Given the description of an element on the screen output the (x, y) to click on. 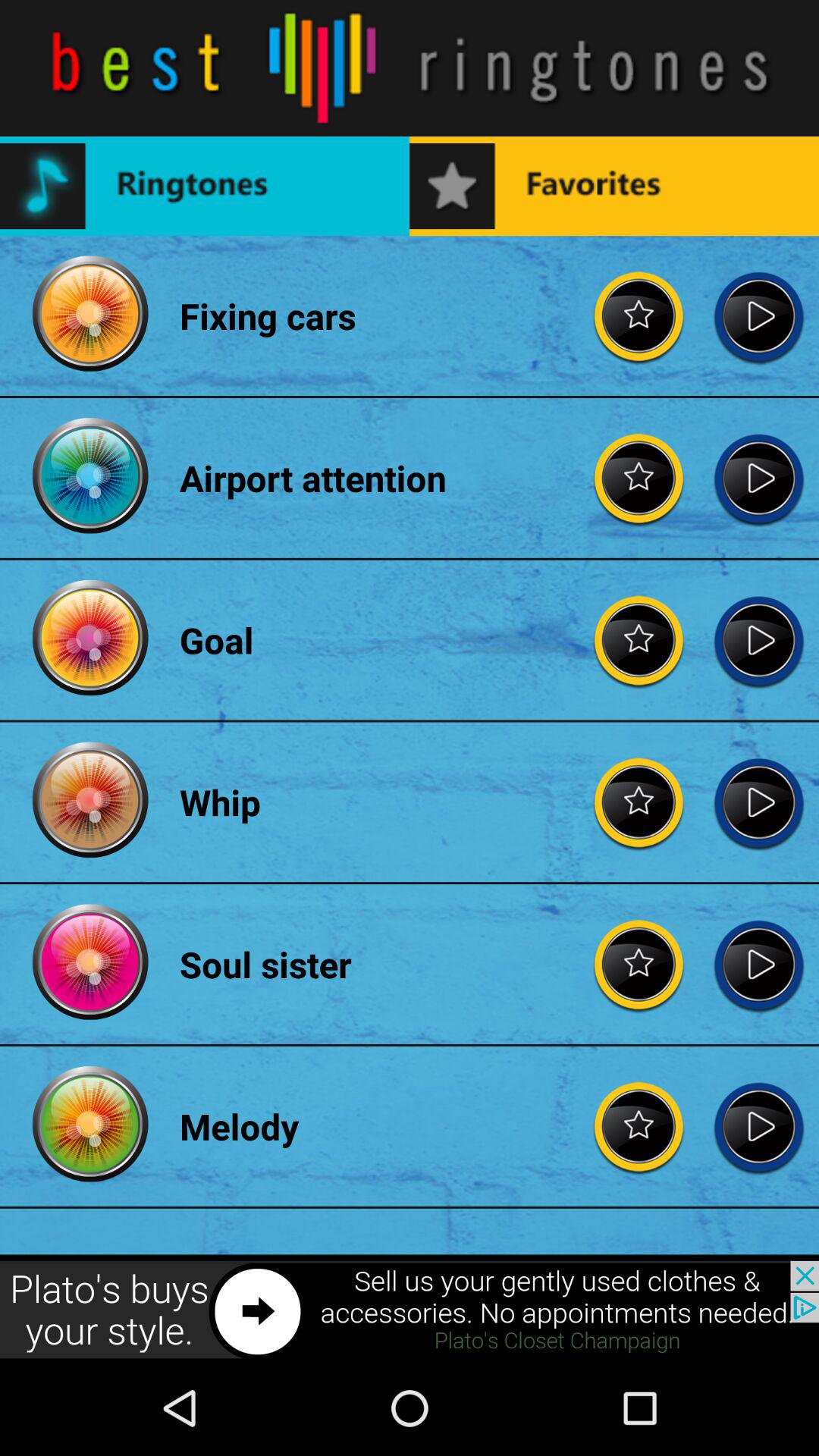
favorite the item (639, 801)
